Given the description of an element on the screen output the (x, y) to click on. 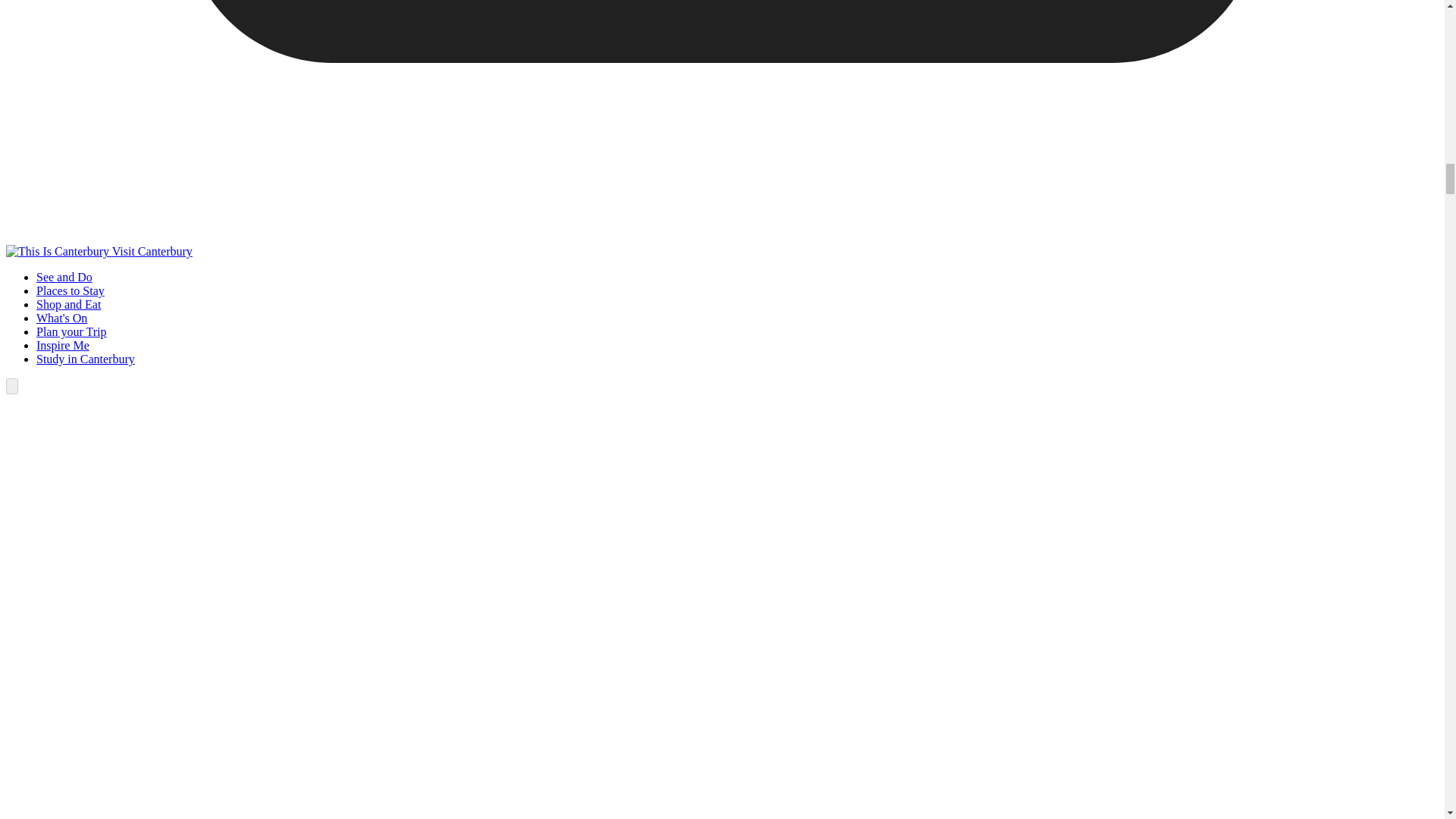
Inspire Me (62, 345)
See and Do (64, 277)
Plan your Trip (71, 331)
Visit Canterbury (98, 250)
What's On (61, 318)
Study in Canterbury (85, 358)
Shop and Eat (68, 304)
Places to Stay (70, 290)
